Given the description of an element on the screen output the (x, y) to click on. 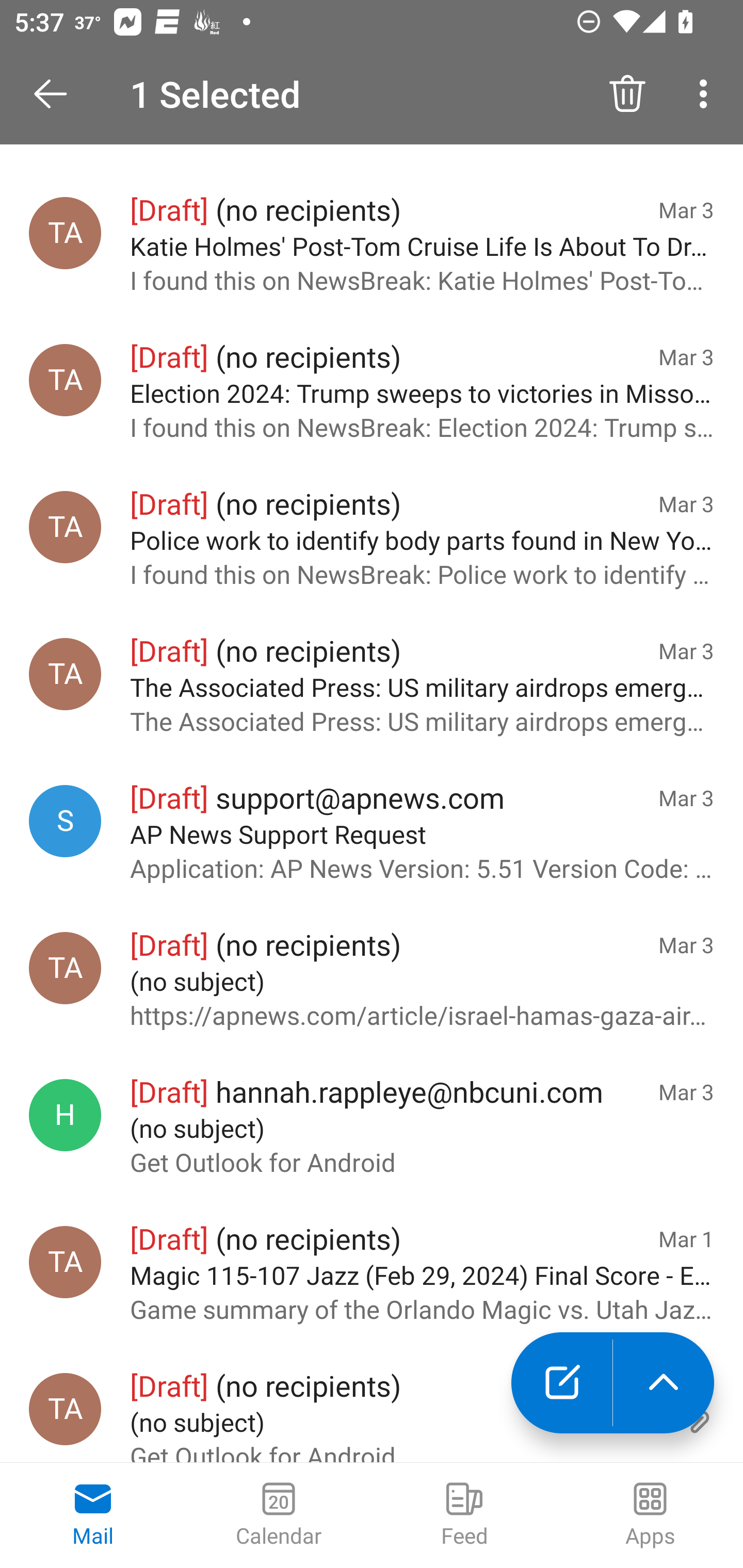
Delete (626, 93)
More options (706, 93)
Open Navigation Drawer (57, 94)
Test Appium, testappium002@outlook.com (64, 233)
Test Appium, testappium002@outlook.com (64, 379)
Test Appium, testappium002@outlook.com (64, 526)
Test Appium, testappium002@outlook.com (64, 674)
support@apnews.com (64, 821)
Test Appium, testappium002@outlook.com (64, 967)
hannah.rappleye@nbcuni.com (64, 1114)
Test Appium, testappium002@outlook.com (64, 1262)
New mail (561, 1382)
launch the extended action menu (663, 1382)
Test Appium, testappium002@outlook.com (64, 1409)
Calendar (278, 1515)
Feed (464, 1515)
Apps (650, 1515)
